Given the description of an element on the screen output the (x, y) to click on. 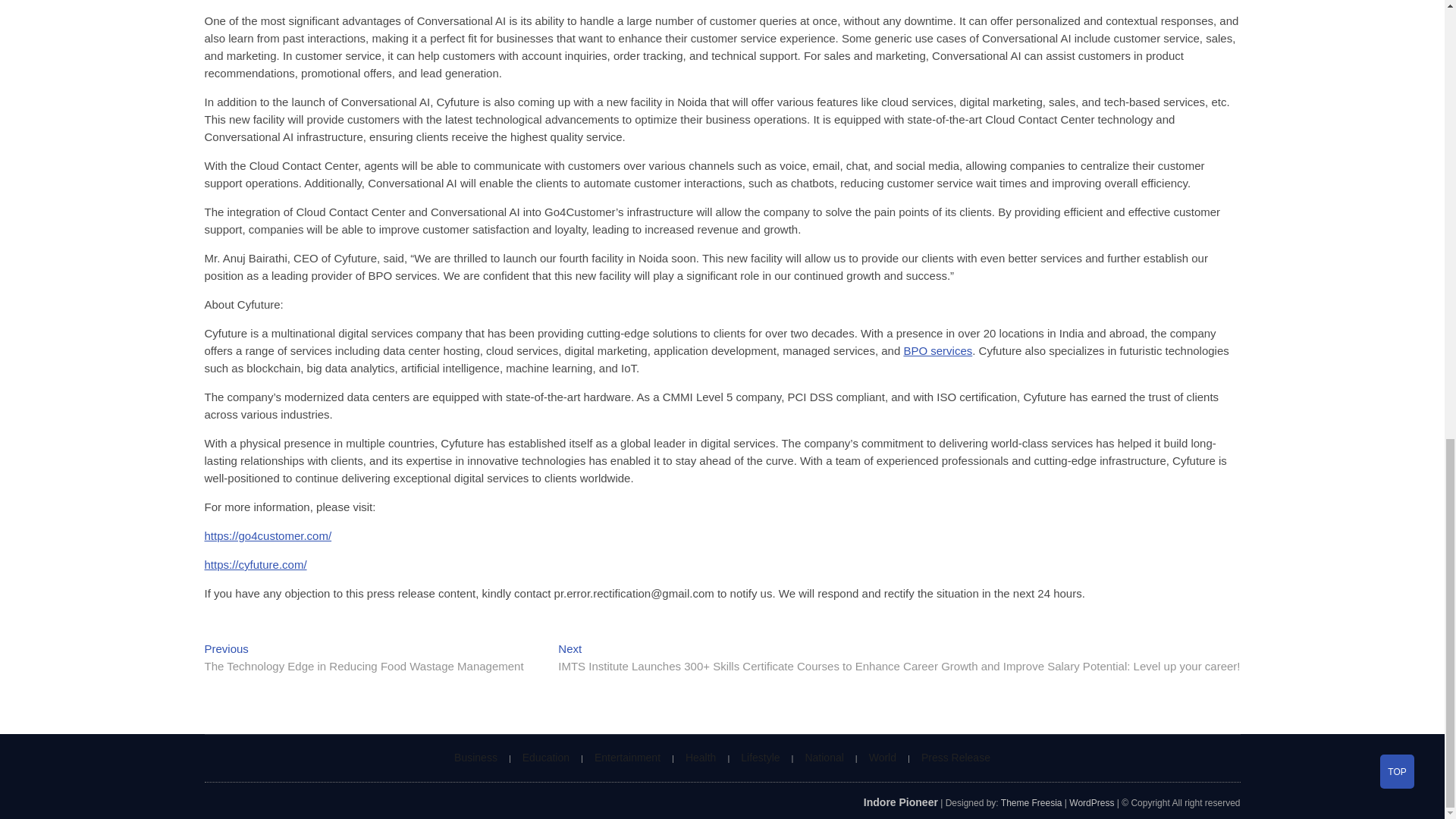
Education (545, 757)
WordPress (1090, 802)
Business (475, 757)
Indore Pioneer (900, 802)
BPO services (937, 350)
Theme Freesia (1031, 802)
Entertainment (627, 757)
